Given the description of an element on the screen output the (x, y) to click on. 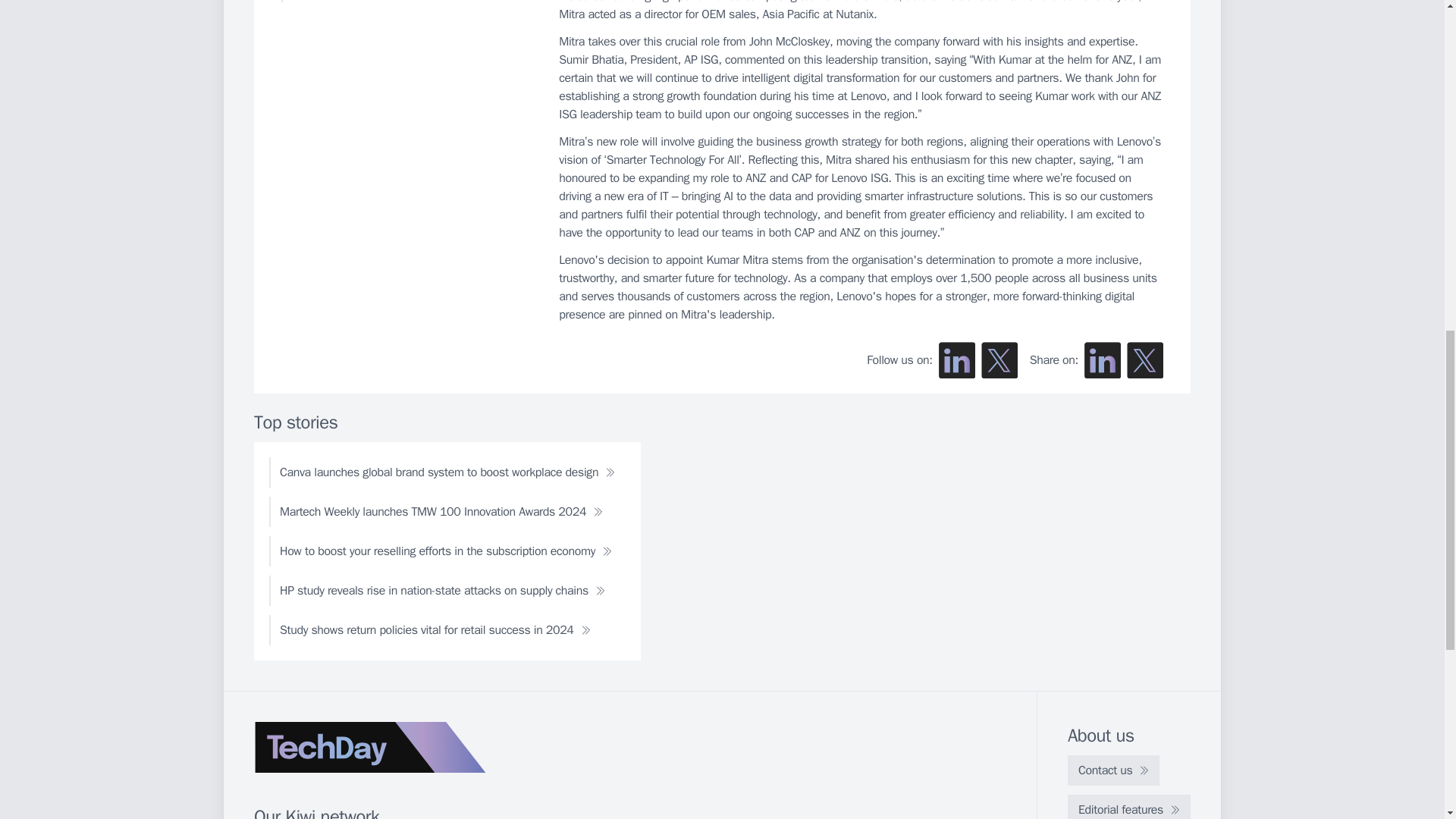
Martech Weekly launches TMW 100 Innovation Awards 2024 (440, 511)
Canva launches global brand system to boost workplace design (447, 472)
Study shows return policies vital for retail success in 2024 (435, 630)
